Given the description of an element on the screen output the (x, y) to click on. 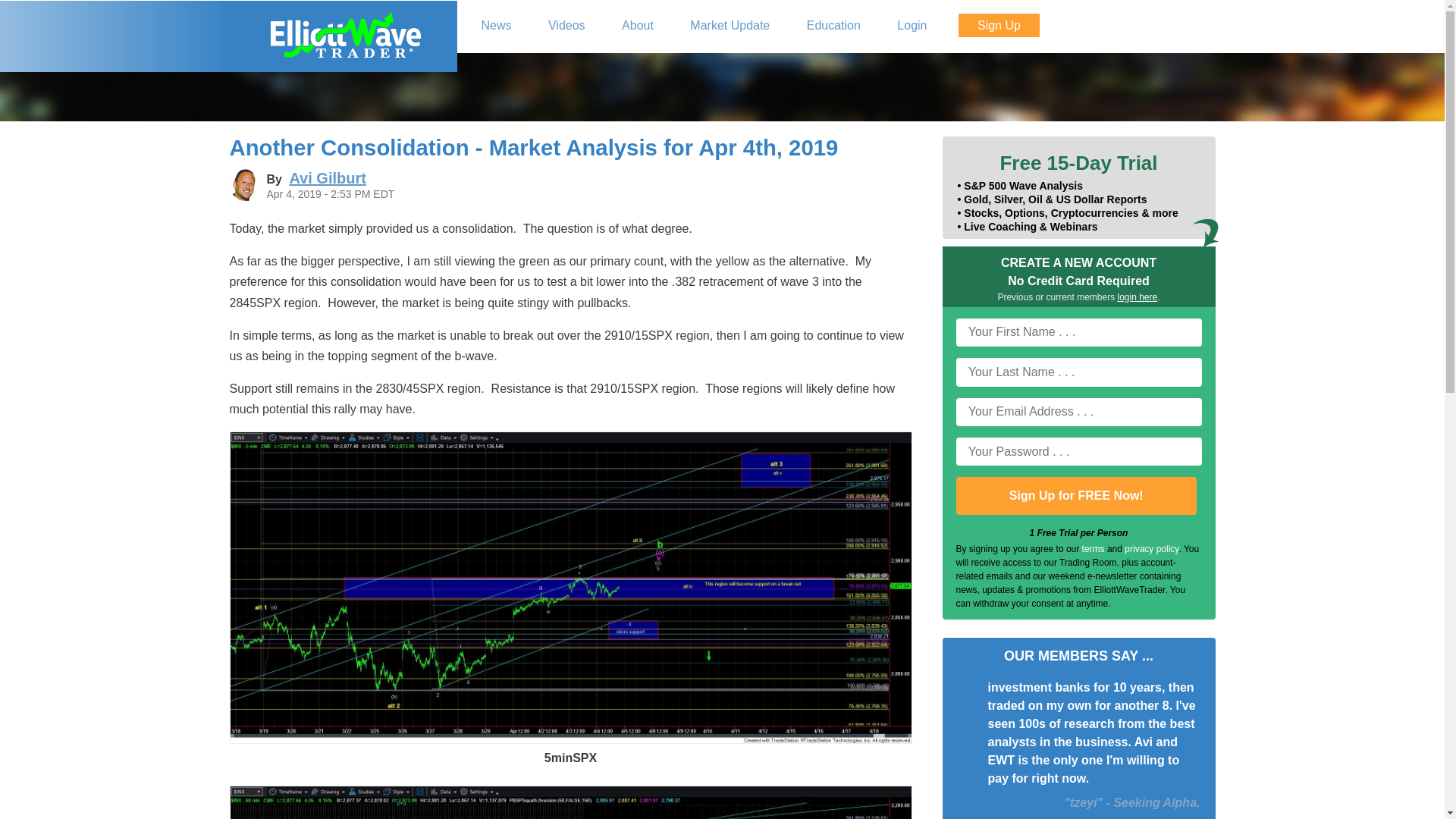
About ElliottWaveTrader (637, 25)
Videos (567, 25)
Your First Name (1078, 332)
About (637, 25)
privacy policy (1150, 548)
Login (911, 25)
Sign Up to become a Member! (998, 24)
terms (1093, 548)
Videos (567, 25)
News (496, 25)
Sign Up for FREE Now! (1075, 495)
Your Last Name (1078, 371)
Sign Up (998, 24)
Elliott Wave Education (834, 25)
Click to Enlarge (569, 739)
